Given the description of an element on the screen output the (x, y) to click on. 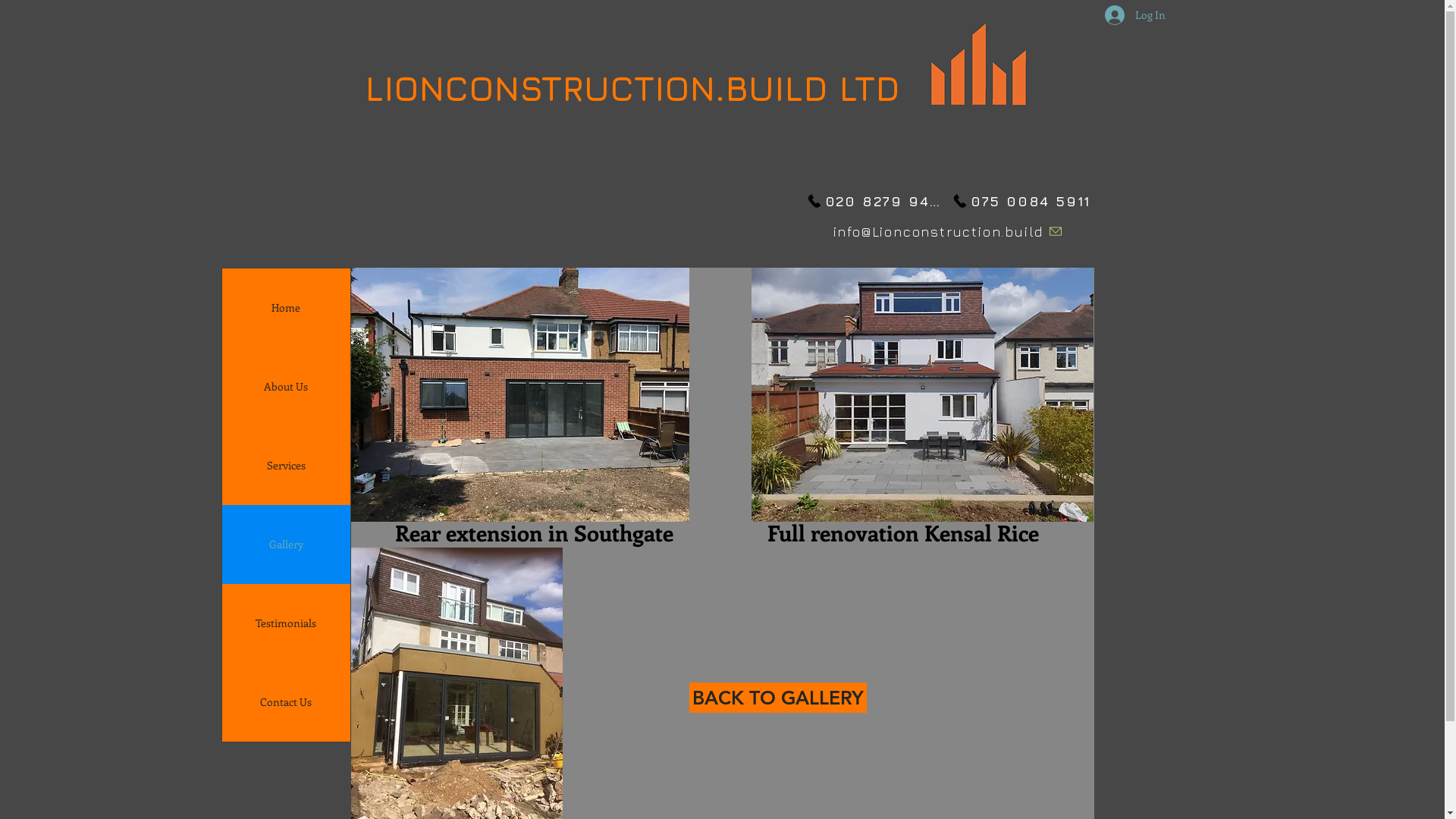
Contact Us Element type: text (285, 701)
020 8279 9497 Element type: text (876, 200)
Testimonials Element type: text (285, 622)
Gallery Element type: text (285, 544)
About Us Element type: text (285, 386)
Rear extension in Southgate Element type: text (533, 533)
Home Element type: text (285, 307)
BACK TO GALLERY Element type: text (777, 697)
Log In Element type: text (1124, 14)
info@Lionconstruction.build Element type: text (947, 231)
075 0084 5911 Element type: text (1020, 200)
Services Element type: text (285, 465)
